Given the description of an element on the screen output the (x, y) to click on. 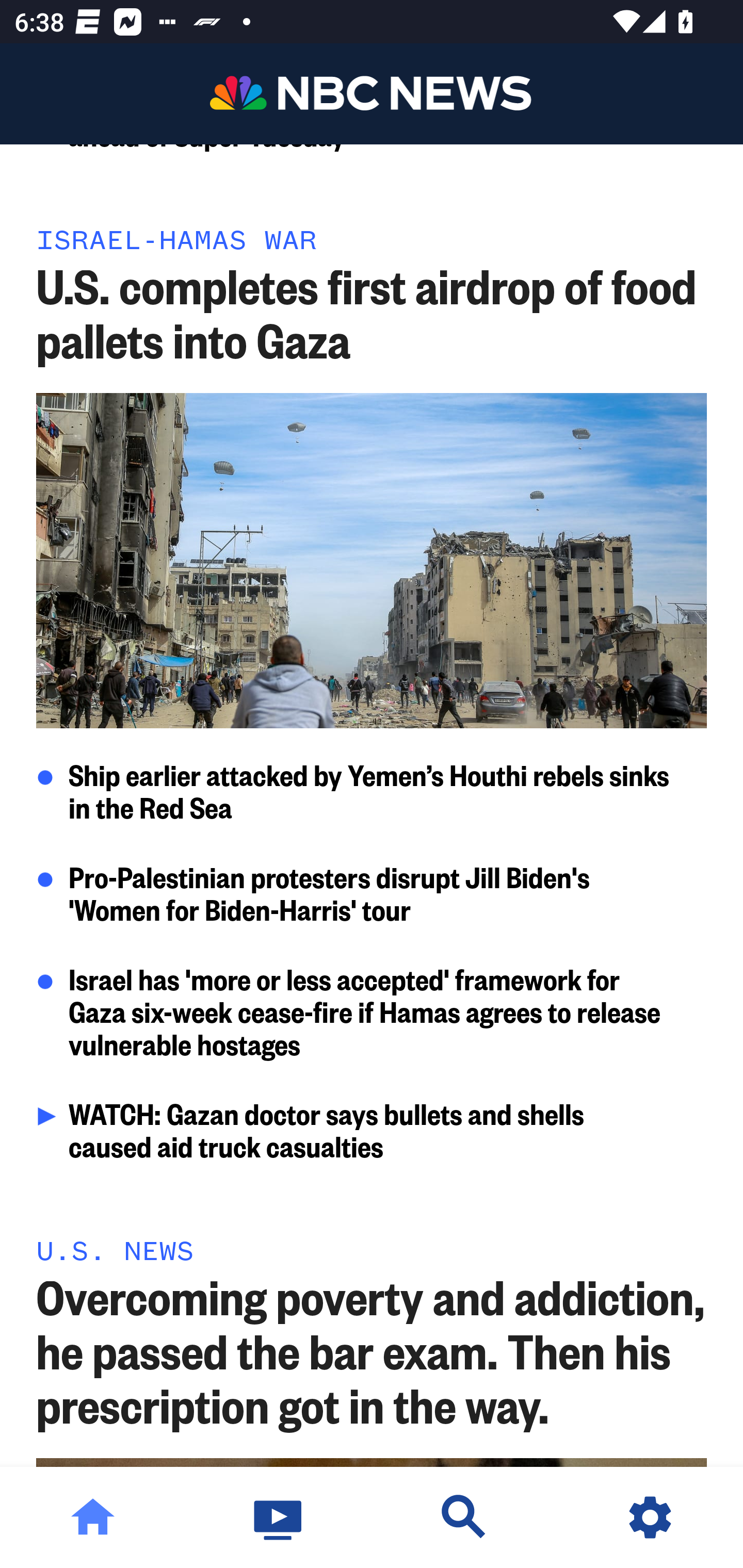
Watch (278, 1517)
Discover (464, 1517)
Settings (650, 1517)
